Given the description of an element on the screen output the (x, y) to click on. 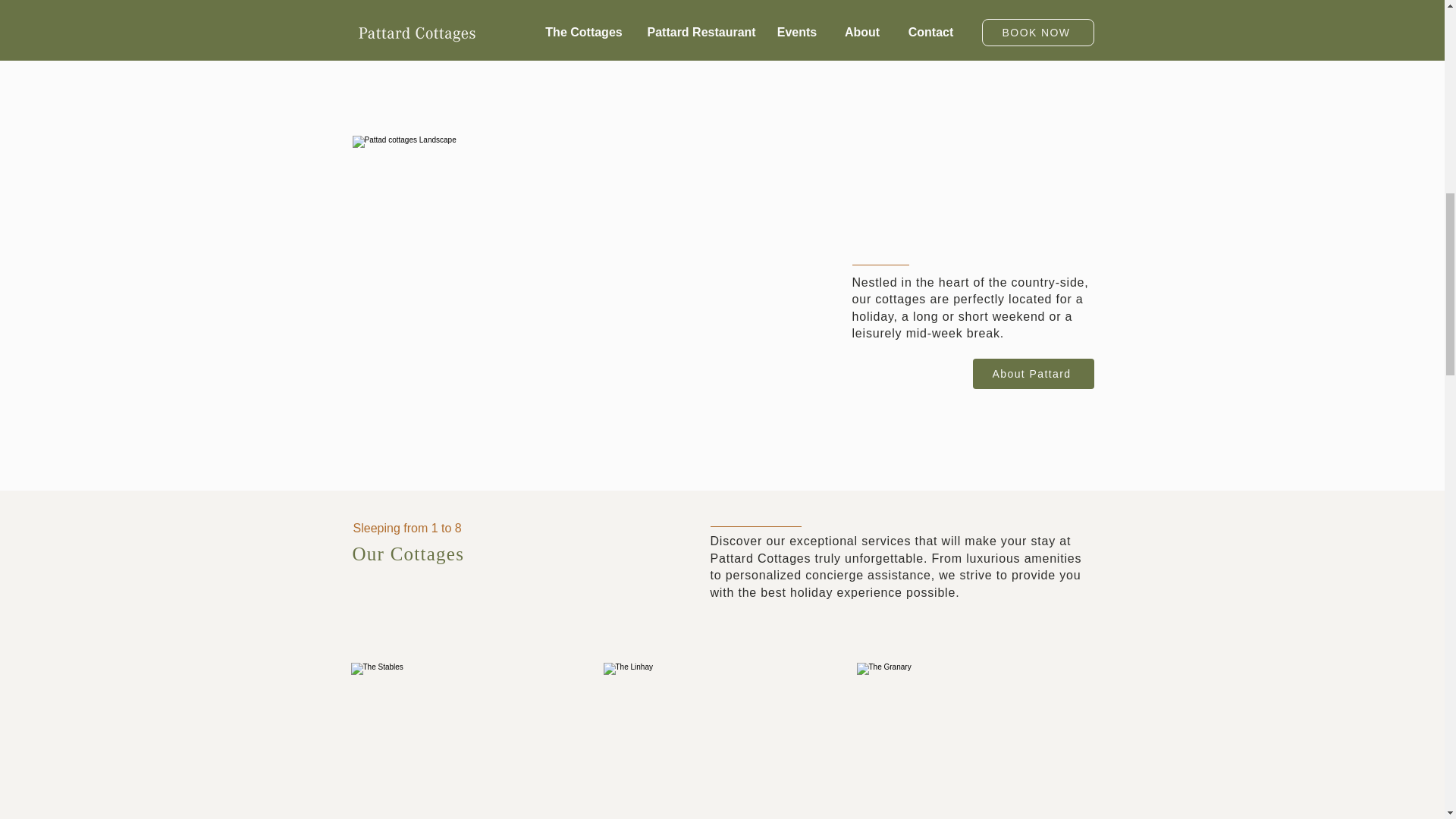
About Pattard (1032, 373)
